Given the description of an element on the screen output the (x, y) to click on. 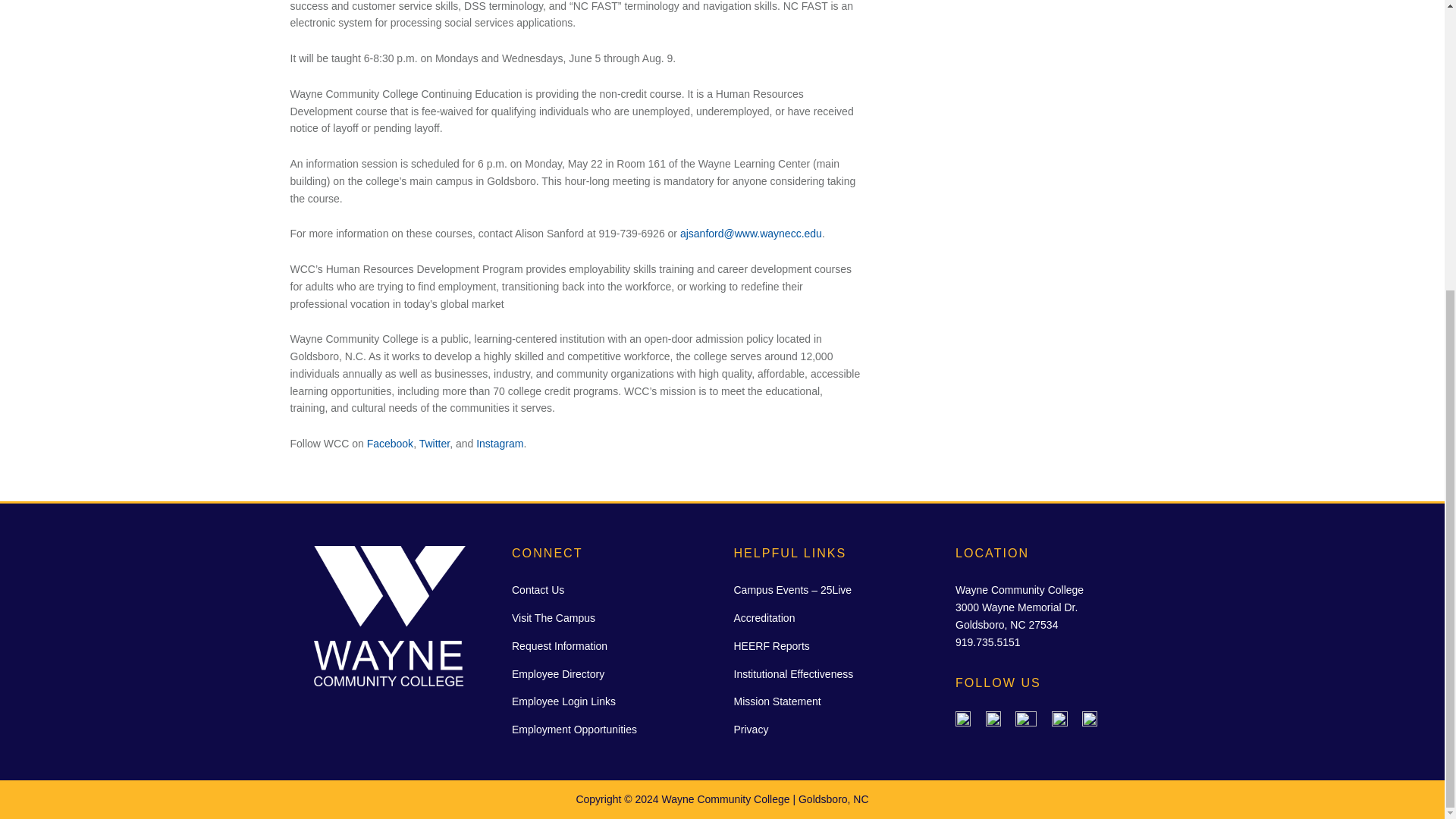
Instagram (499, 443)
Facebook (389, 443)
Contact Us (538, 589)
Visit The Campus (553, 617)
Twitter (434, 443)
